Given the description of an element on the screen output the (x, y) to click on. 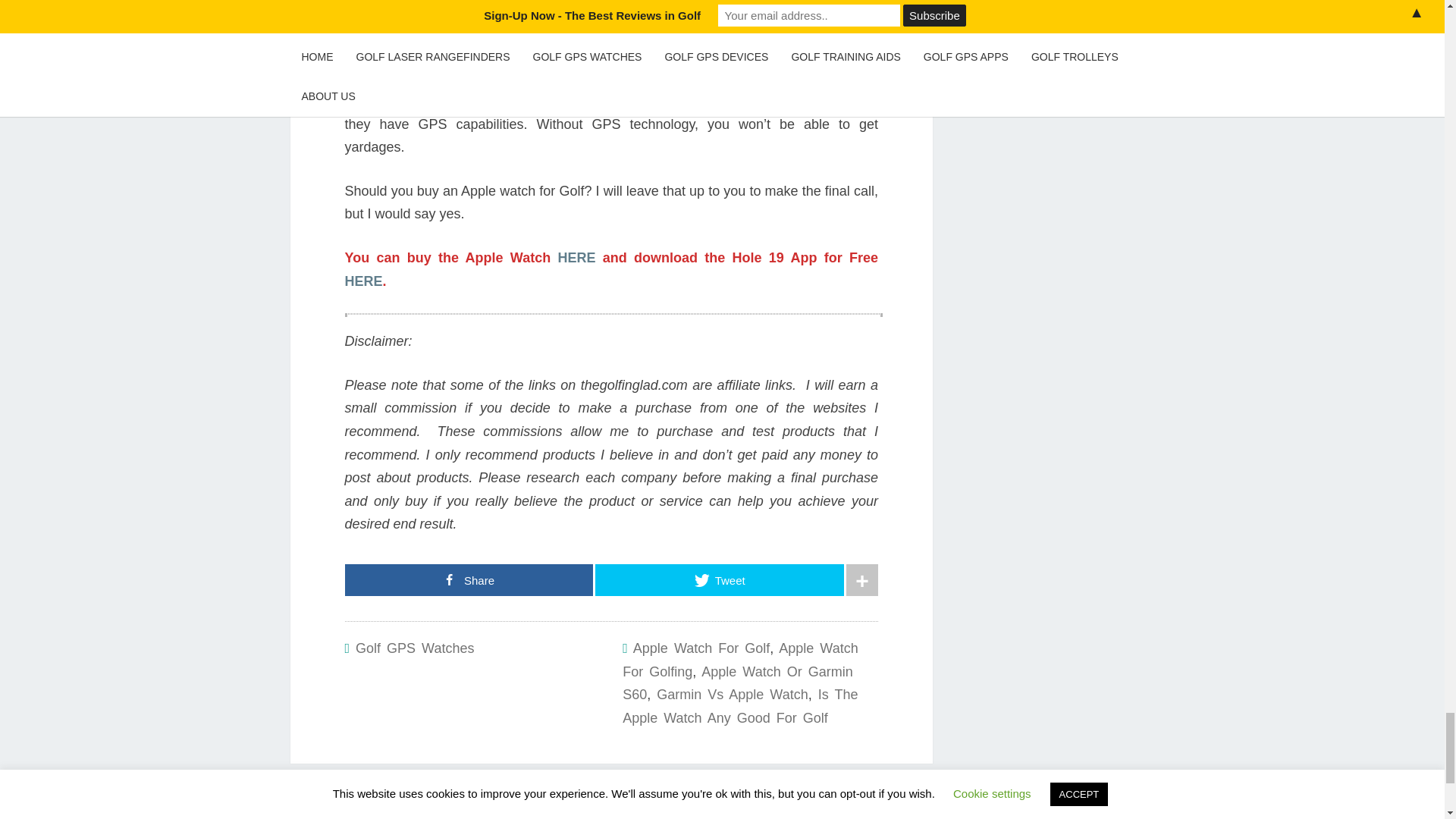
Is The Apple Watch Any Good For Golf (740, 706)
Apple Watch For Golf (701, 648)
HERE (576, 257)
Tweet (719, 580)
Golf GPS Watches (414, 648)
Share (467, 580)
Apple Watch Or Garmin S60 (737, 683)
Garmin Vs Apple Watch (732, 694)
Series 5 (574, 56)
HERE (362, 281)
